Given the description of an element on the screen output the (x, y) to click on. 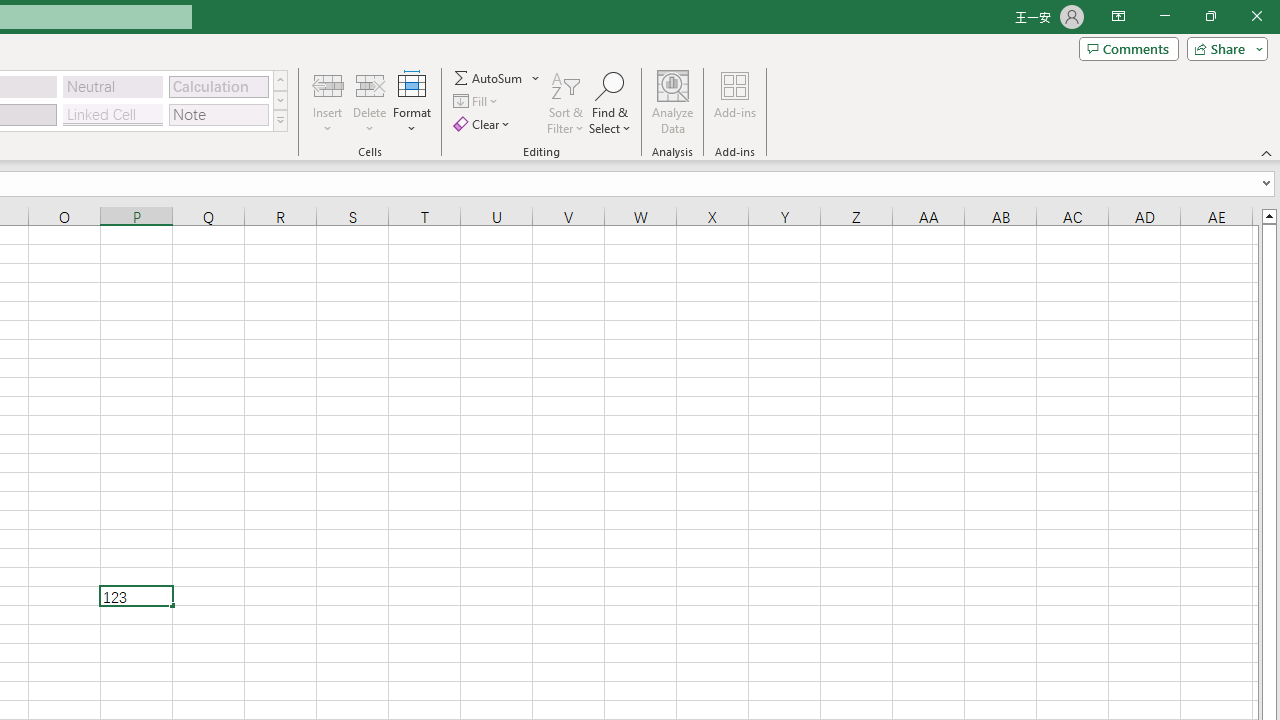
Sort & Filter (566, 102)
Edit Cell (136, 596)
